Given the description of an element on the screen output the (x, y) to click on. 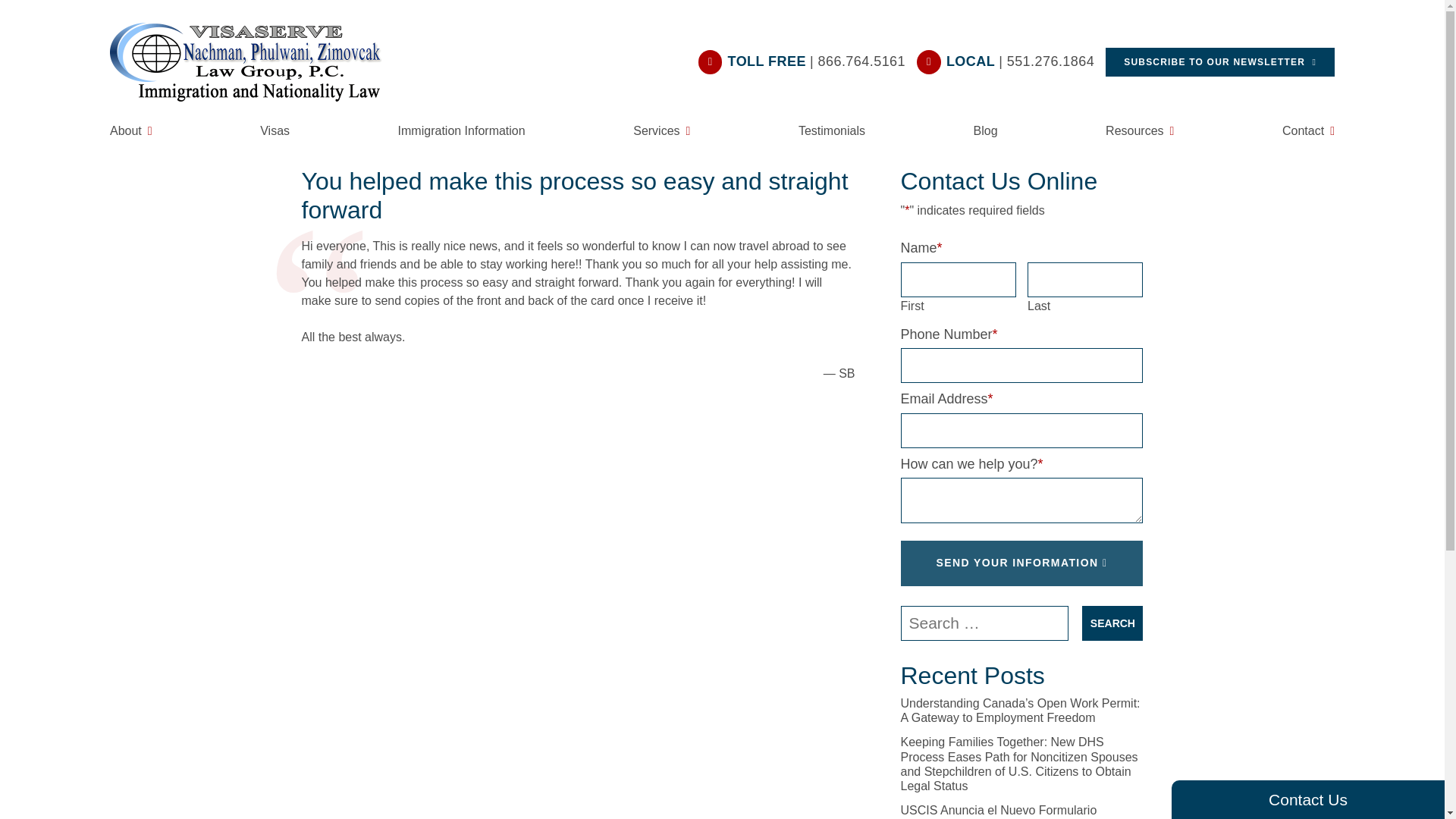
Resources (1139, 128)
Return home (254, 61)
Search for: (984, 623)
Services (661, 128)
Testimonials (830, 128)
Visas (274, 128)
SUBSCRIBE TO OUR NEWSLETTER (1220, 61)
Contact (1308, 128)
Immigration Information (461, 128)
Search (1111, 623)
